Given the description of an element on the screen output the (x, y) to click on. 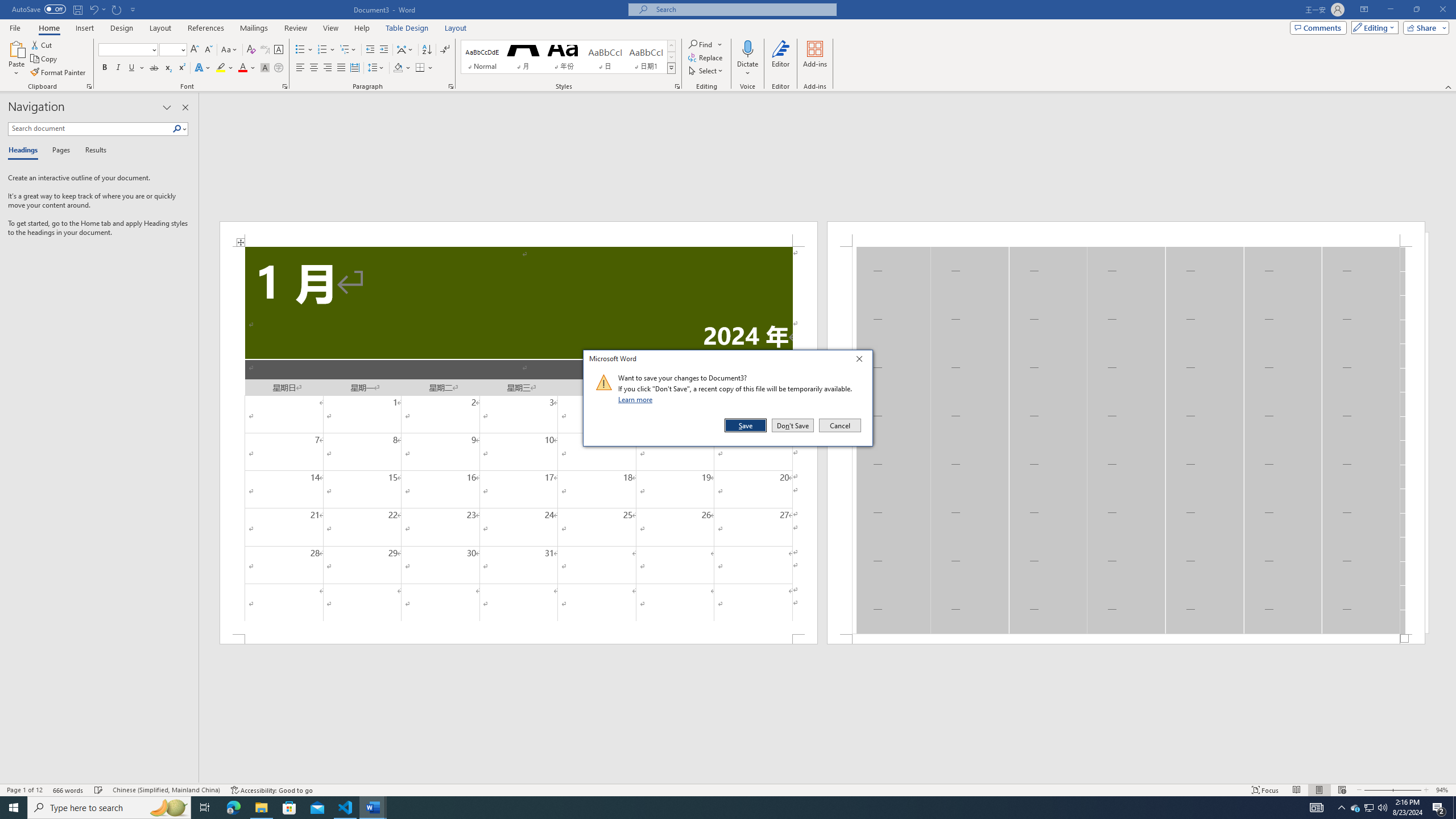
Undo Apply Quick Style (92, 9)
Notification Chevron (1341, 807)
Language Chinese (Simplified, Mainland China) (165, 790)
Running applications (717, 807)
Footer -Section 1- (1126, 638)
File Explorer - 1 running window (261, 807)
